Given the description of an element on the screen output the (x, y) to click on. 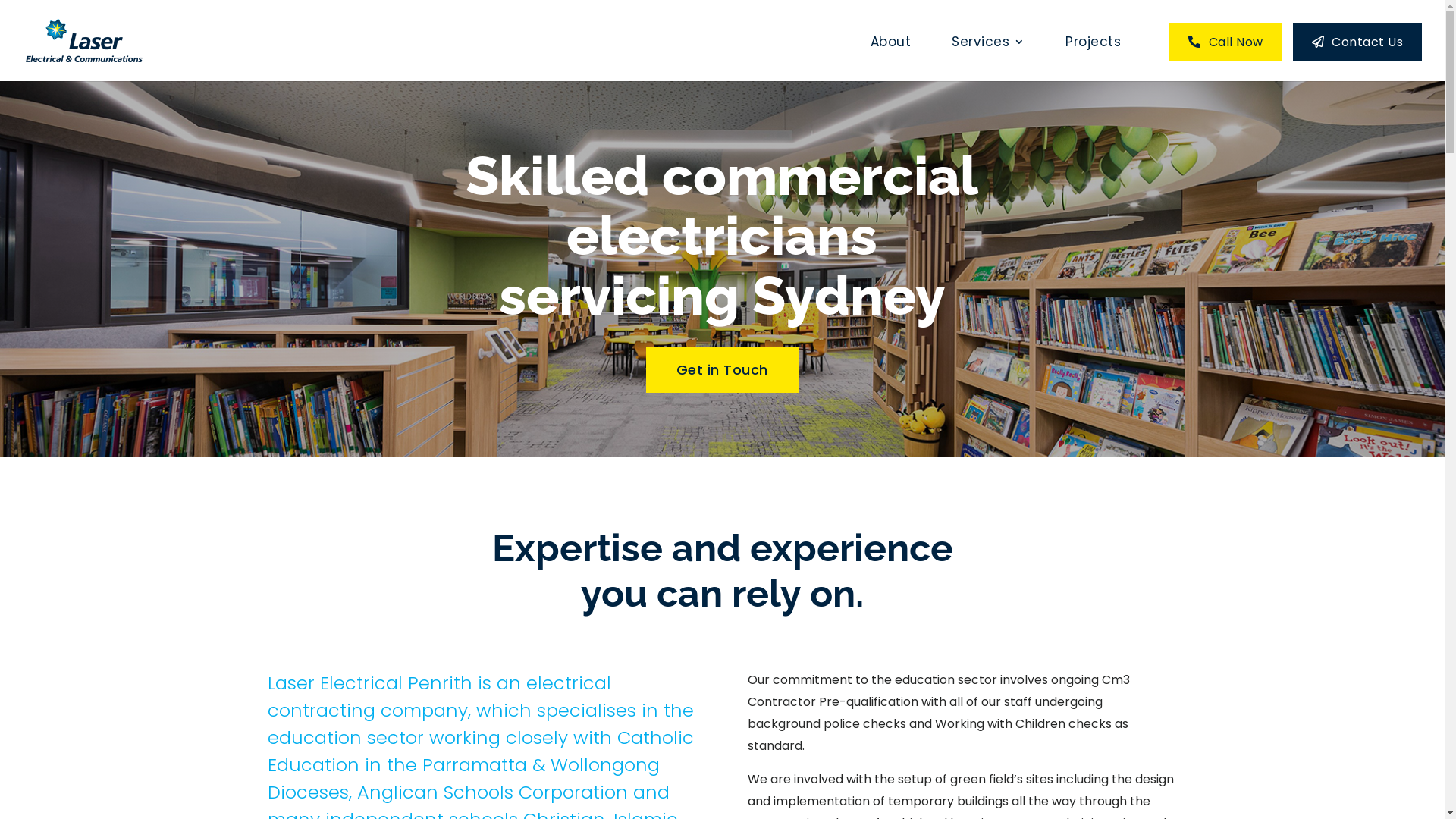
Projects Element type: text (1092, 58)
Contact Us Element type: text (1356, 41)
Get in Touch Element type: text (722, 370)
Services Element type: text (987, 58)
Call Now Element type: text (1225, 41)
About Element type: text (890, 58)
